Given the description of an element on the screen output the (x, y) to click on. 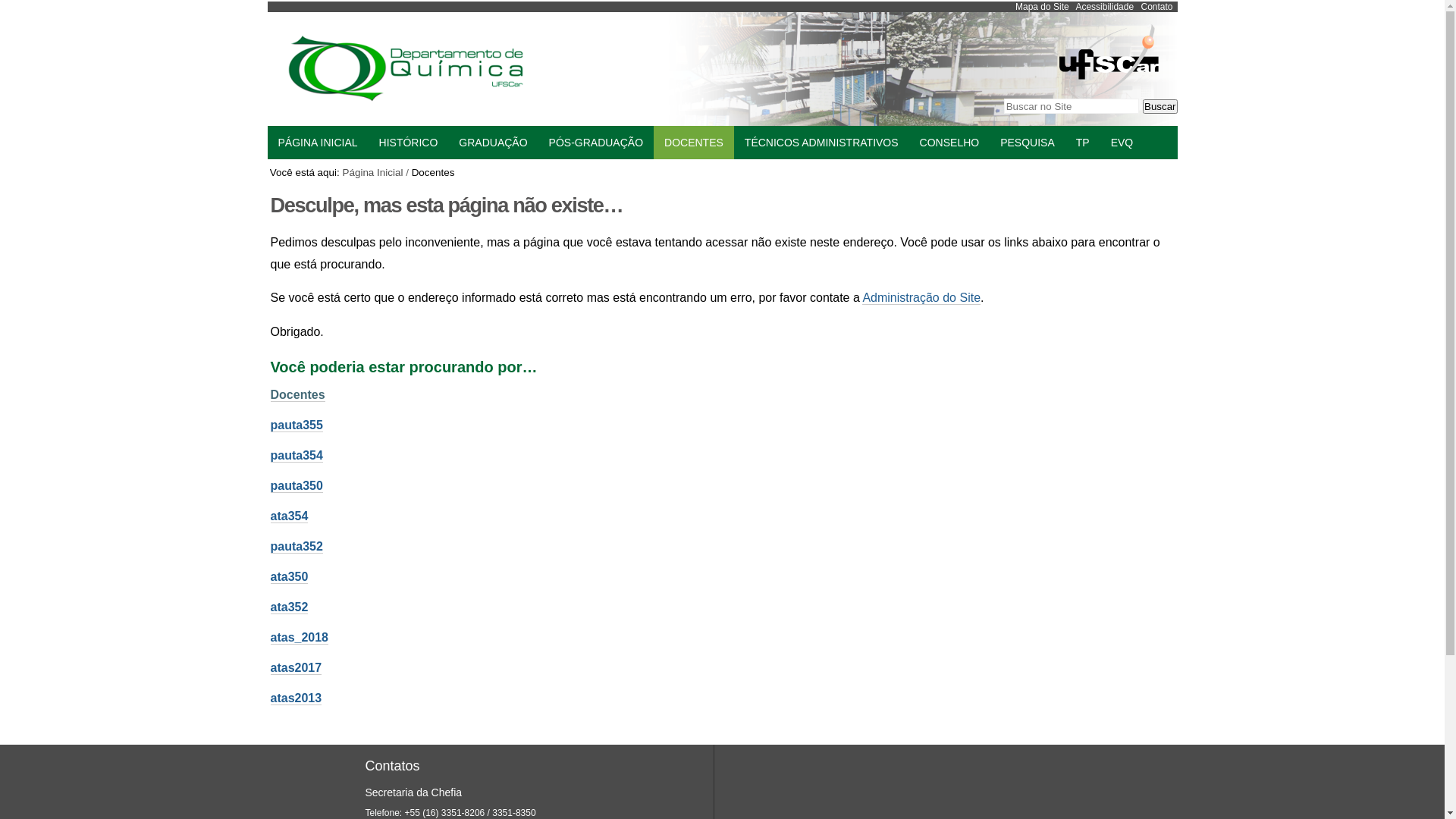
Buscar no Site Element type: hover (1071, 105)
Acessibilidade Element type: text (1104, 6)
EVQ Element type: text (1122, 142)
Mapa do Site Element type: text (1042, 6)
TP Element type: text (1082, 142)
PESQUISA Element type: text (1027, 142)
pauta352 Element type: text (295, 546)
atas2013 Element type: text (295, 698)
DOCENTES Element type: text (693, 142)
Buscar Element type: text (1159, 106)
Docentes Element type: text (296, 394)
pauta355 Element type: text (295, 425)
pauta354 Element type: text (295, 455)
Contato Element type: text (1156, 6)
pauta350 Element type: text (295, 485)
atas_2018 Element type: text (298, 637)
Portal UFSCar Element type: hover (1108, 92)
ata352 Element type: text (288, 607)
atas2017 Element type: text (295, 667)
ata354 Element type: text (288, 516)
ata350 Element type: text (288, 576)
CONSELHO Element type: text (949, 142)
